Given the description of an element on the screen output the (x, y) to click on. 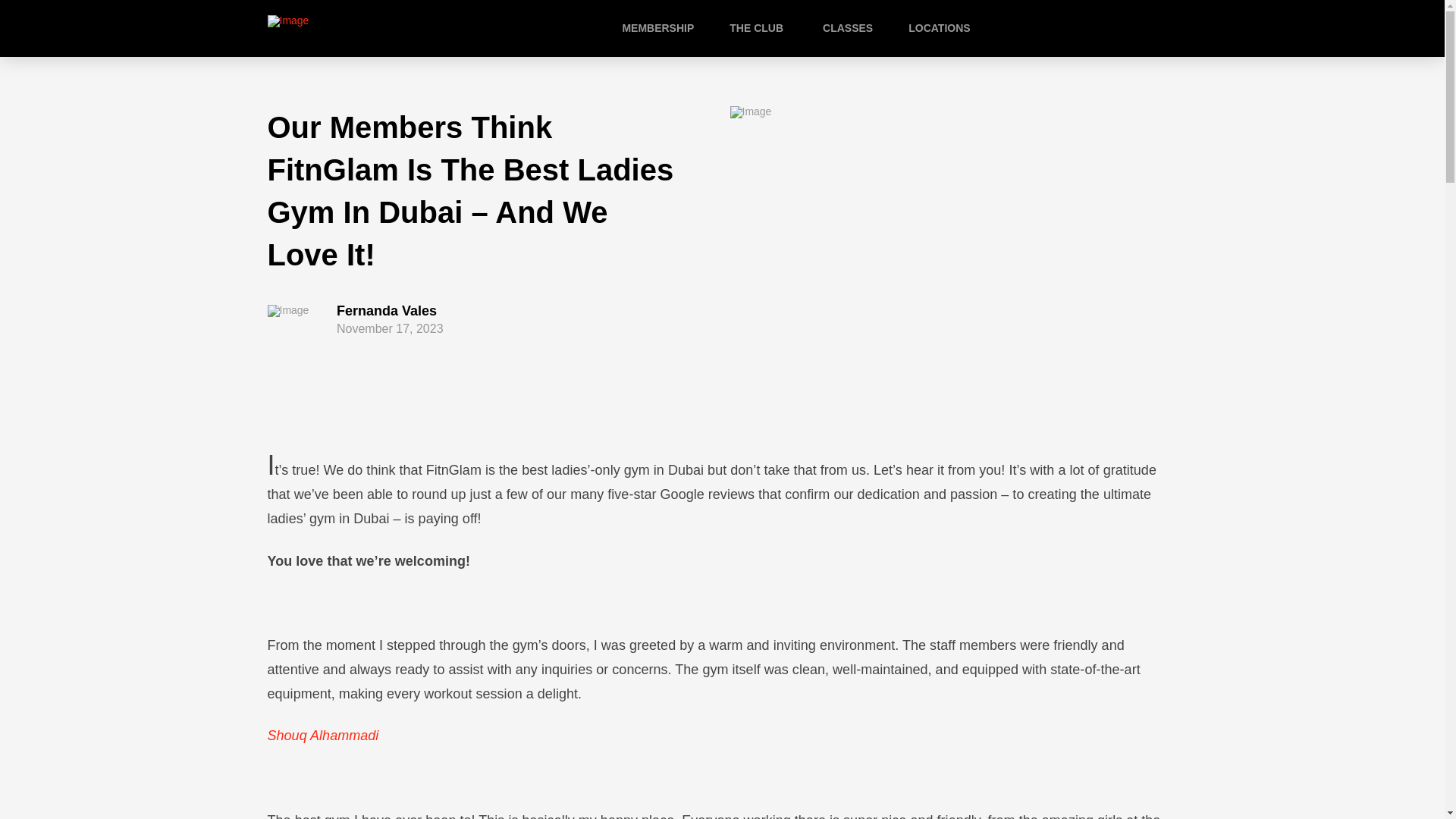
MEMBERSHIP (673, 28)
Shouq Alhammadi (322, 735)
LOCATIONS (954, 28)
